Given the description of an element on the screen output the (x, y) to click on. 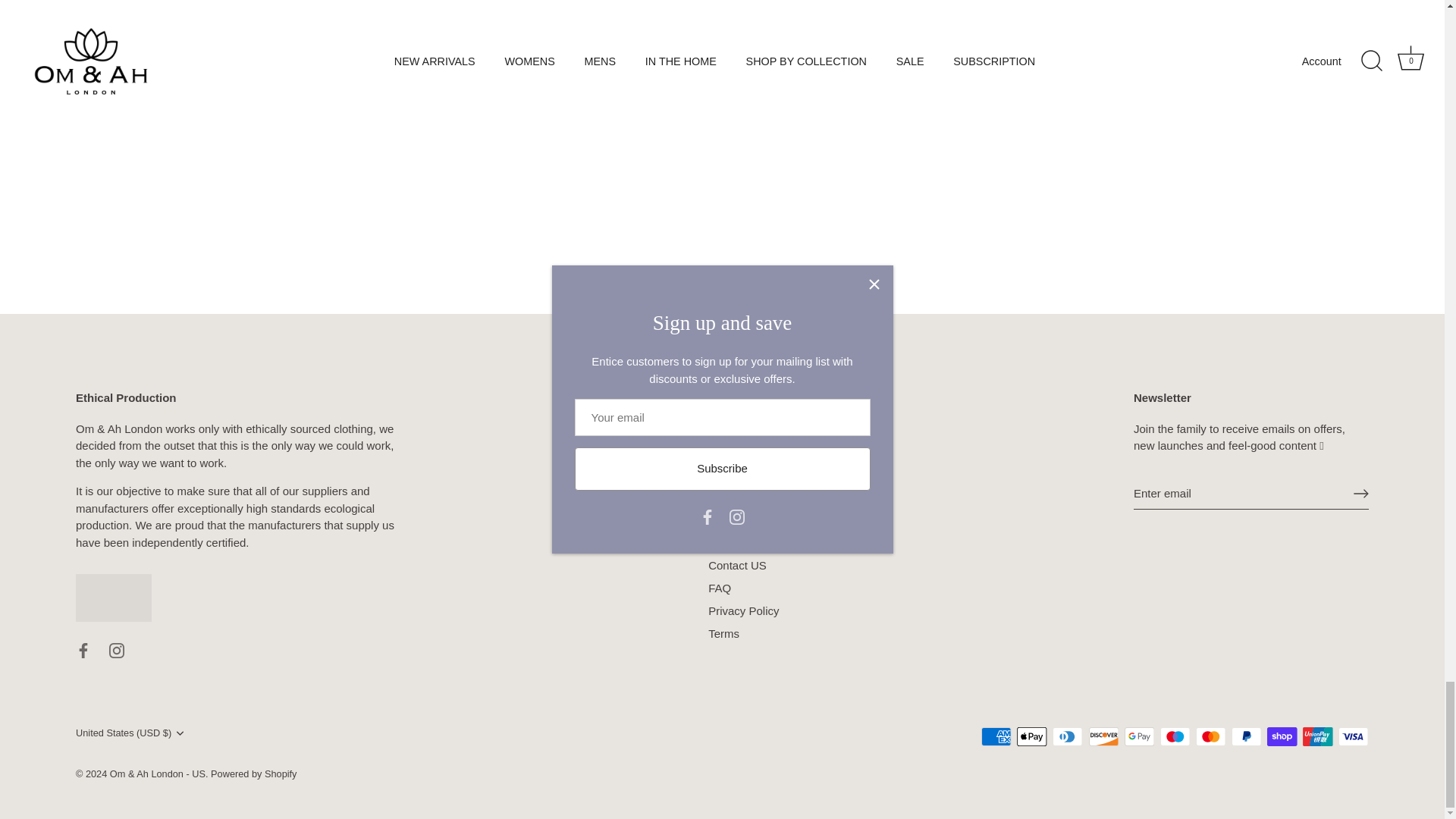
Instagram (116, 650)
Mastercard (1210, 736)
Maestro (1174, 736)
Right arrow long (1361, 493)
American Express (996, 736)
PayPal (1245, 736)
Union Pay (1317, 736)
Discover (1104, 736)
Shop Pay (1281, 736)
Diners Club (1067, 736)
Google Pay (1139, 736)
Apple Pay (1031, 736)
